Given the description of an element on the screen output the (x, y) to click on. 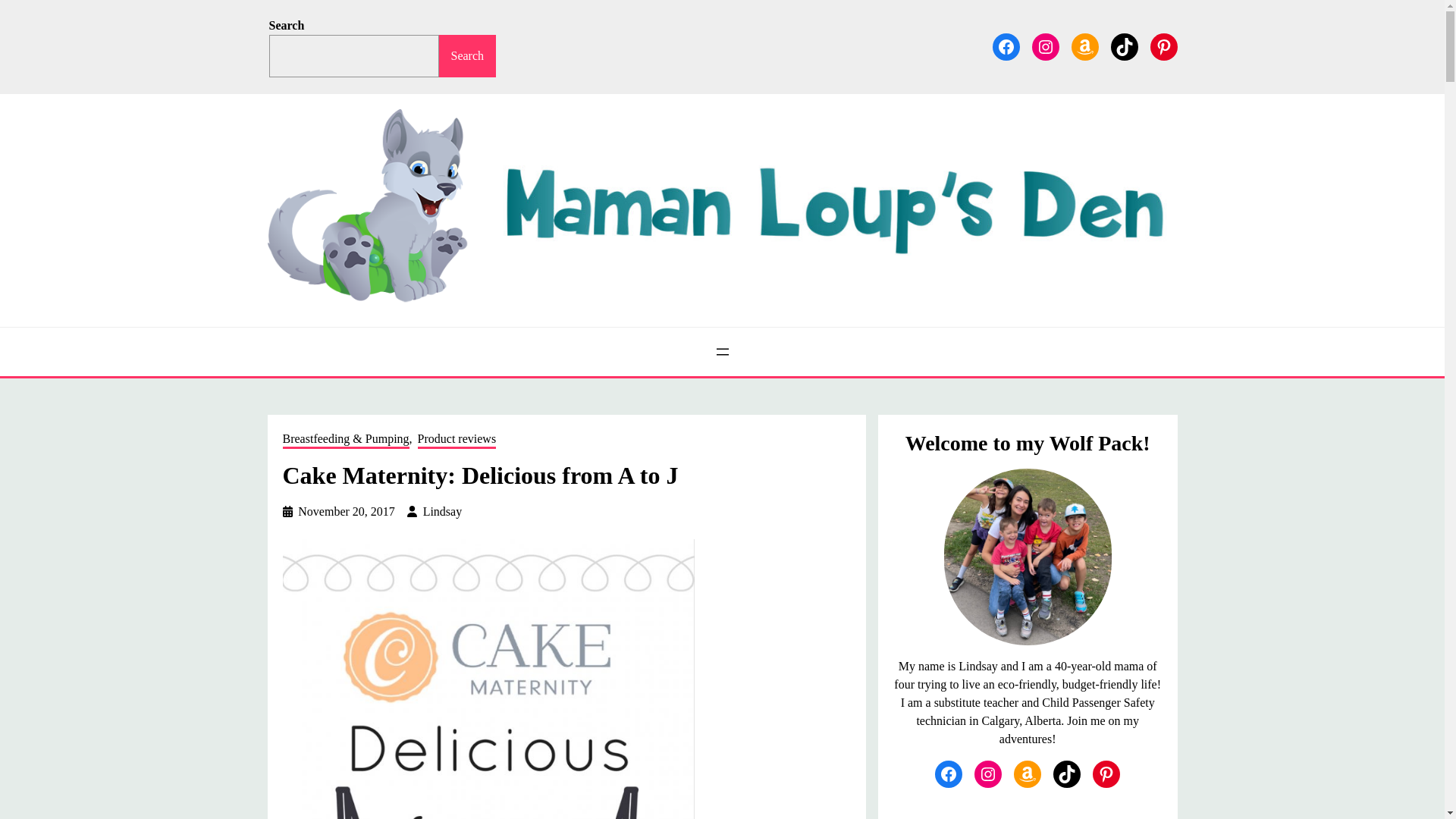
Product reviews (456, 440)
Advertisement (1027, 809)
Search (467, 55)
TikTok (1123, 46)
Facebook (1005, 46)
Amazon (1083, 46)
Instagram (1044, 46)
Pinterest (1163, 46)
